Given the description of an element on the screen output the (x, y) to click on. 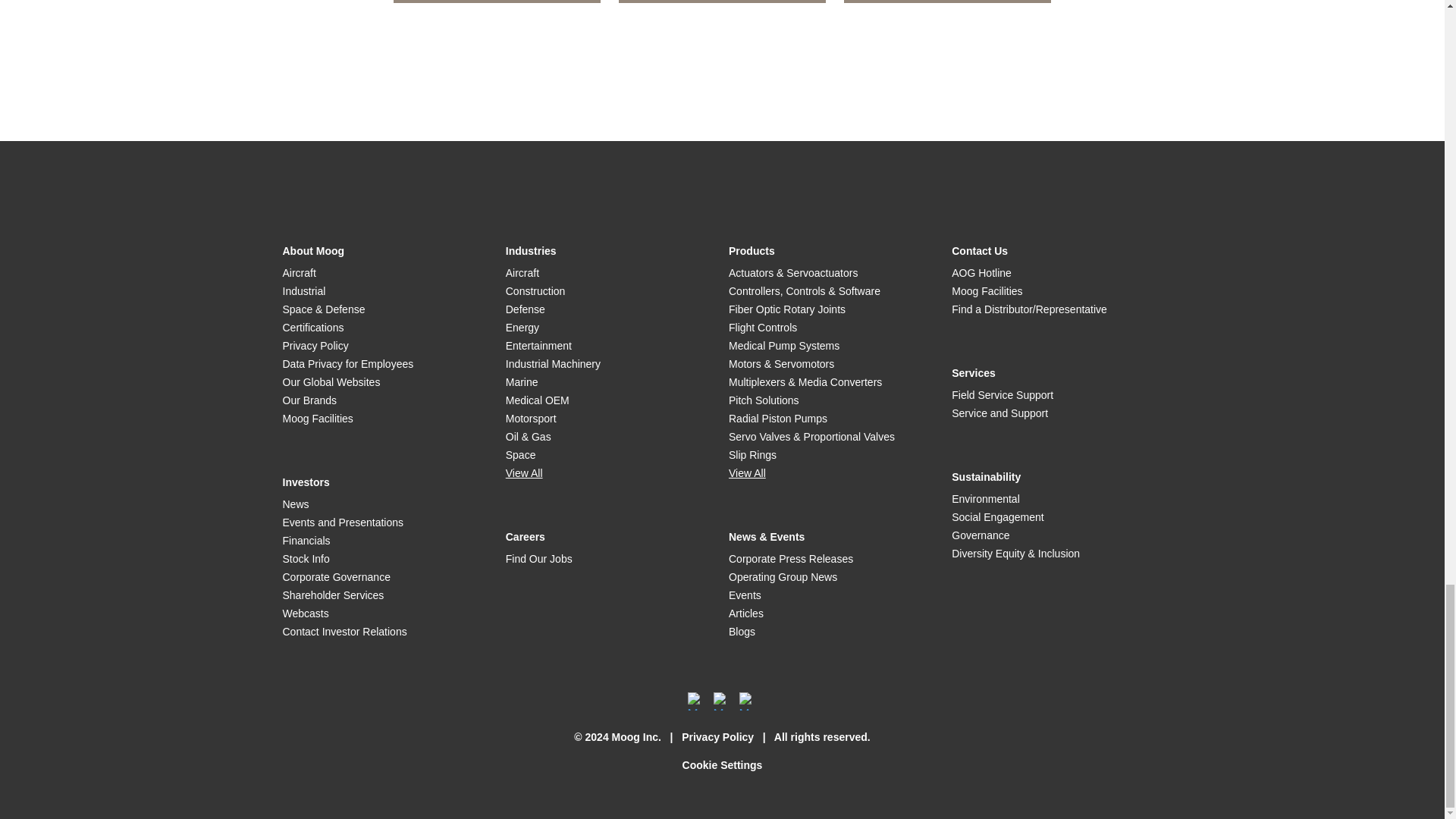
Aerospace Test (721, 1)
Privacy Policy (717, 736)
Automotive Test (496, 1)
